Given the description of an element on the screen output the (x, y) to click on. 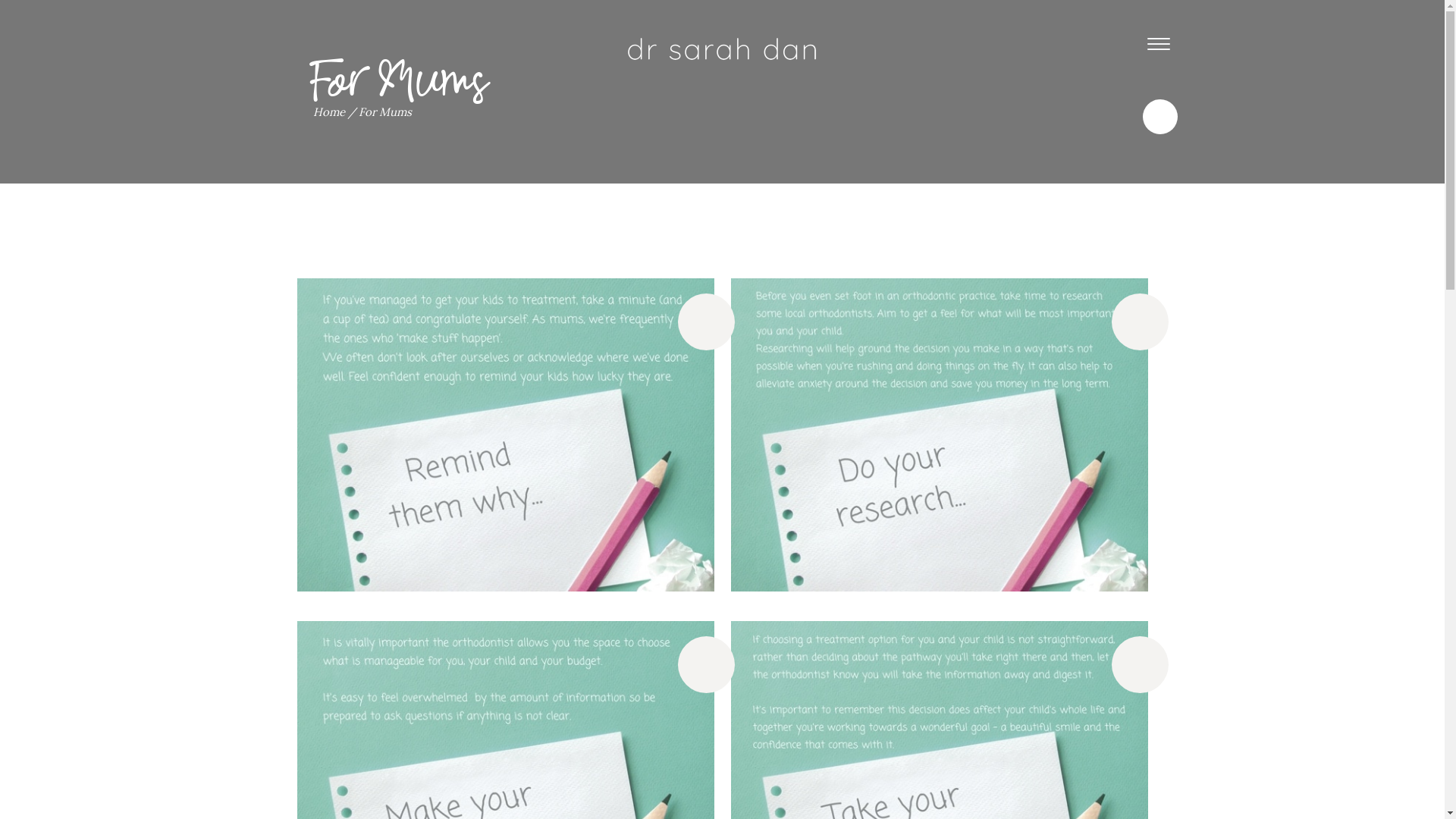
Home Element type: text (328, 112)
Search Element type: text (1108, 26)
